Given the description of an element on the screen output the (x, y) to click on. 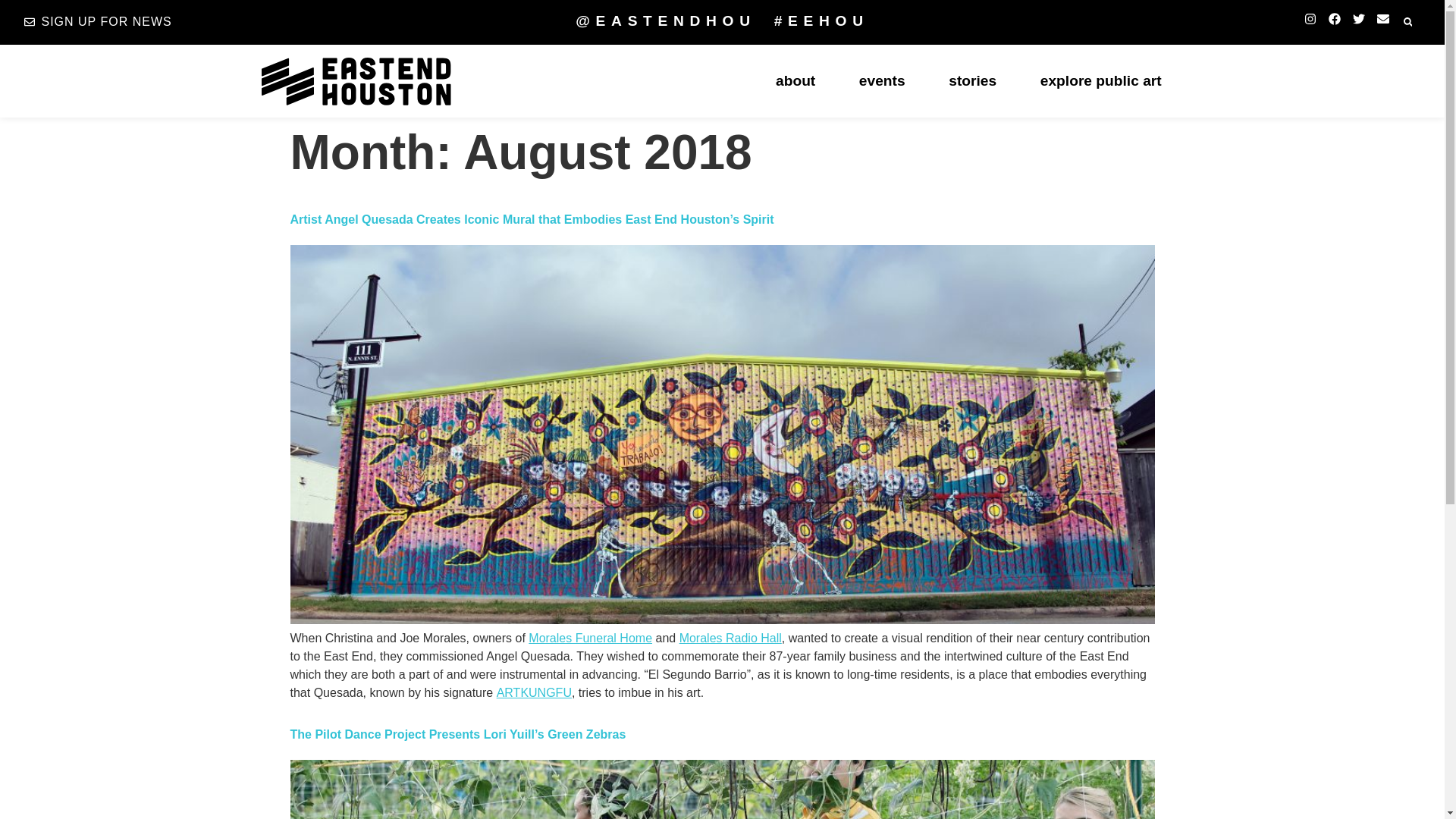
explore public art (1100, 81)
SIGN UP FOR NEWS (97, 22)
events (881, 81)
about (795, 81)
stories (971, 81)
Events. Places. History. (795, 81)
